Given the description of an element on the screen output the (x, y) to click on. 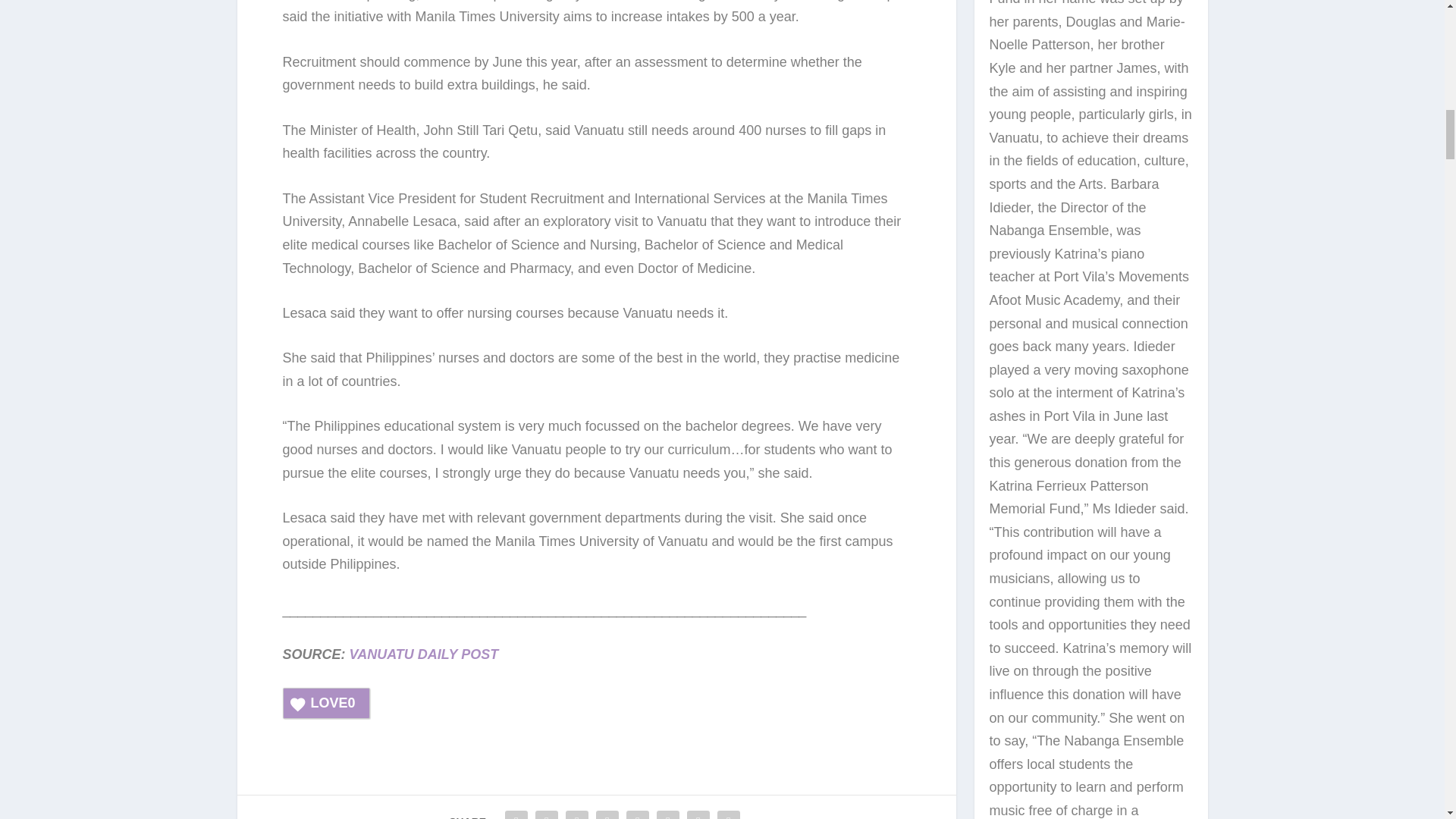
VANUATU DAILY POST  (425, 654)
LOVE0 (325, 703)
